Given the description of an element on the screen output the (x, y) to click on. 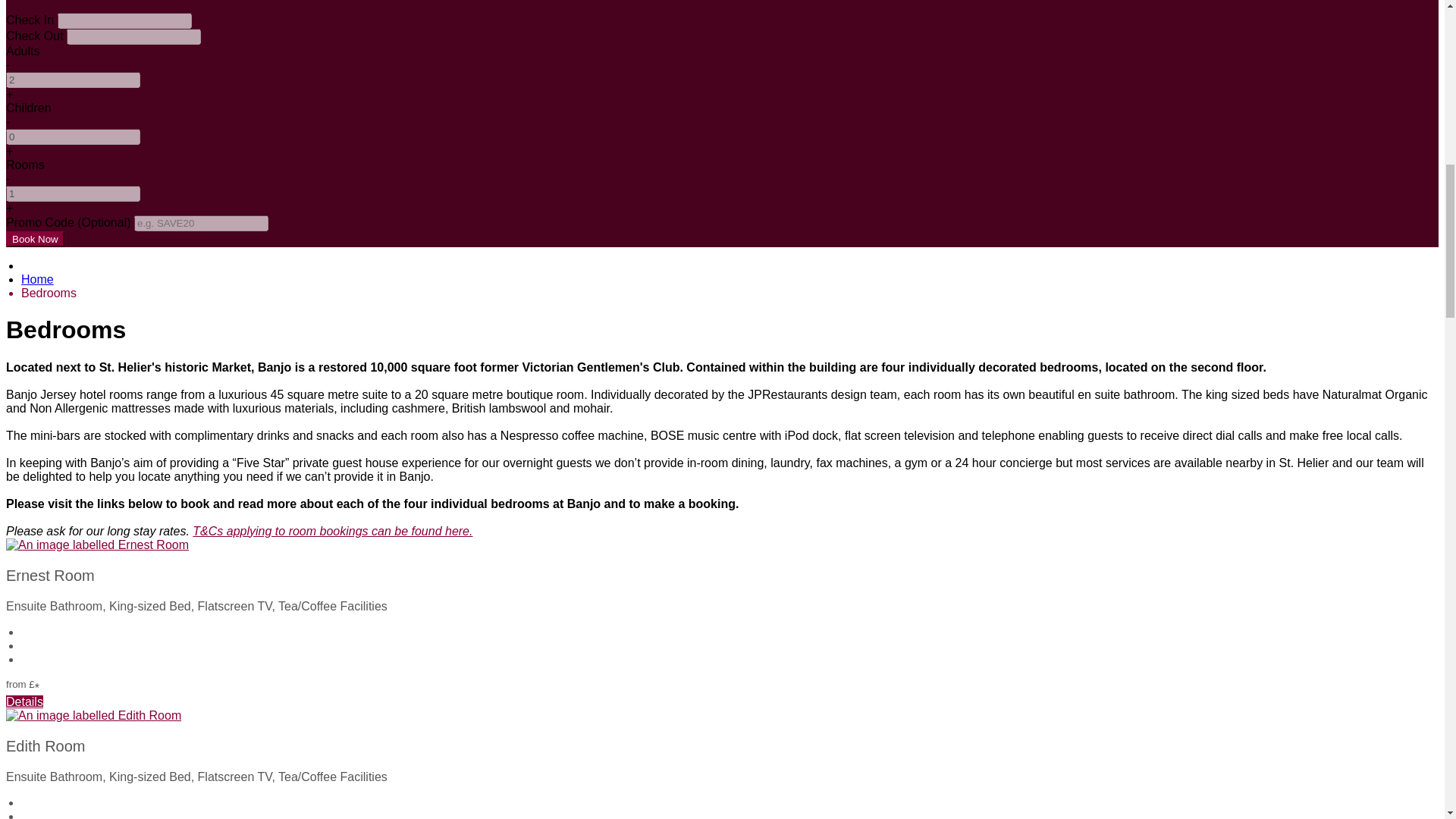
Book Now (34, 238)
0 (72, 136)
Book Now (34, 238)
Home (37, 278)
2 (72, 79)
1 (72, 193)
